Given the description of an element on the screen output the (x, y) to click on. 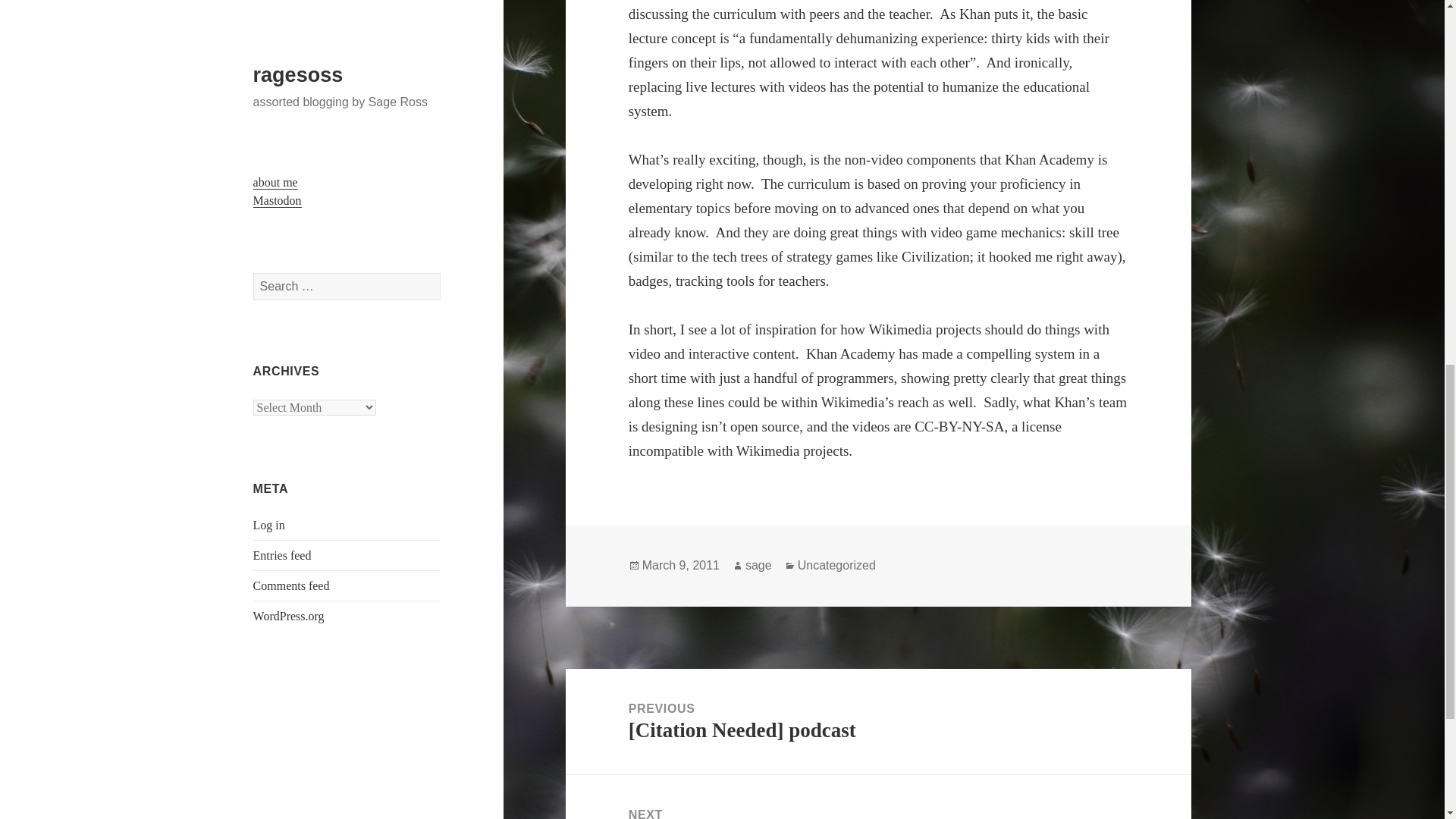
Uncategorized (836, 565)
March 9, 2011 (680, 565)
sage (758, 565)
